Given the description of an element on the screen output the (x, y) to click on. 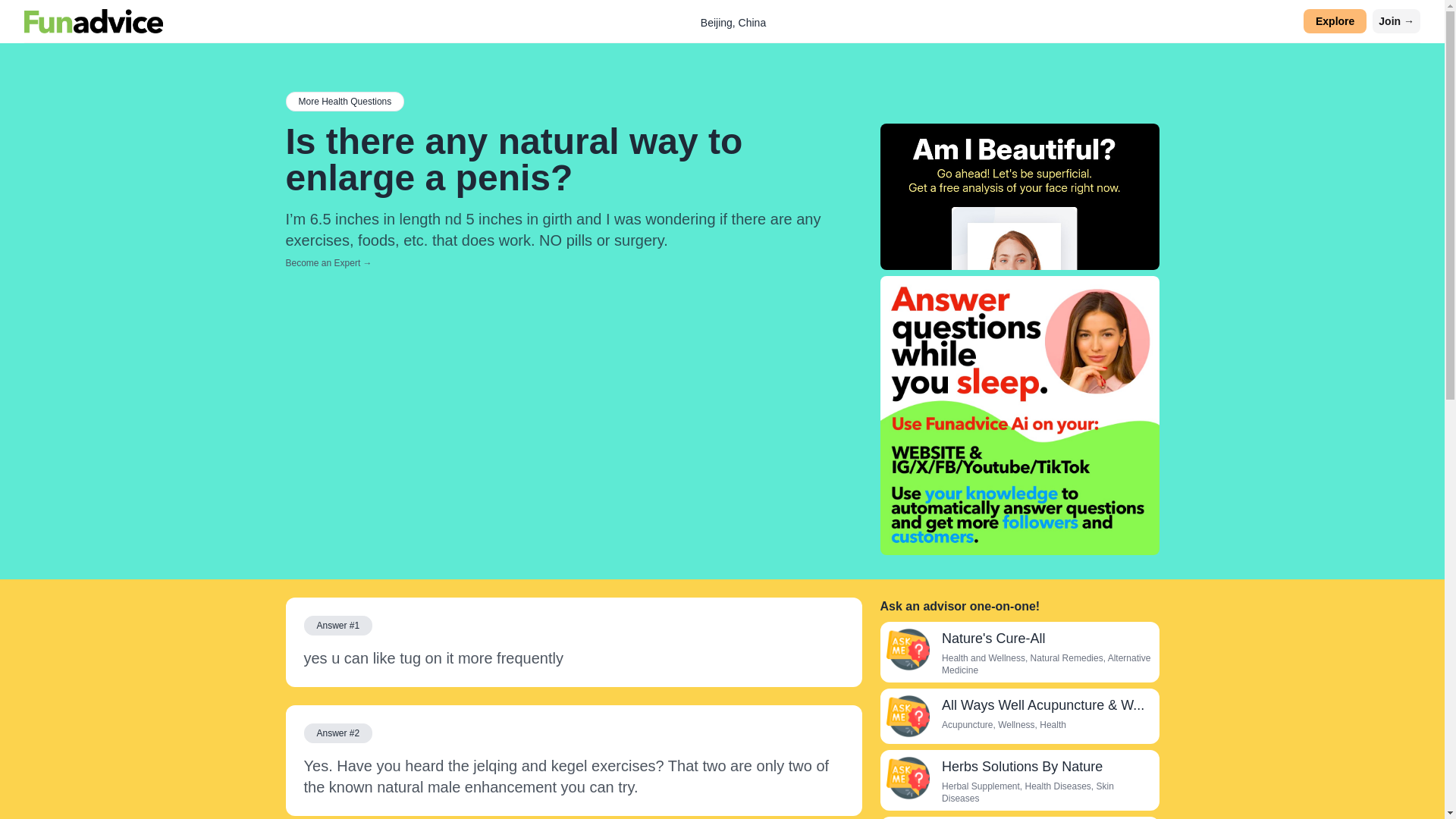
Herbs Solutions By Nature (907, 777)
Explore (1335, 21)
Nature's Cure-All (907, 649)
More Health Questions (344, 101)
Health Questions (344, 101)
Herbs Solutions By Nature (1022, 766)
Beijing, China (732, 22)
Nature's Cure-All (993, 638)
Funadvice Home (93, 21)
